Given the description of an element on the screen output the (x, y) to click on. 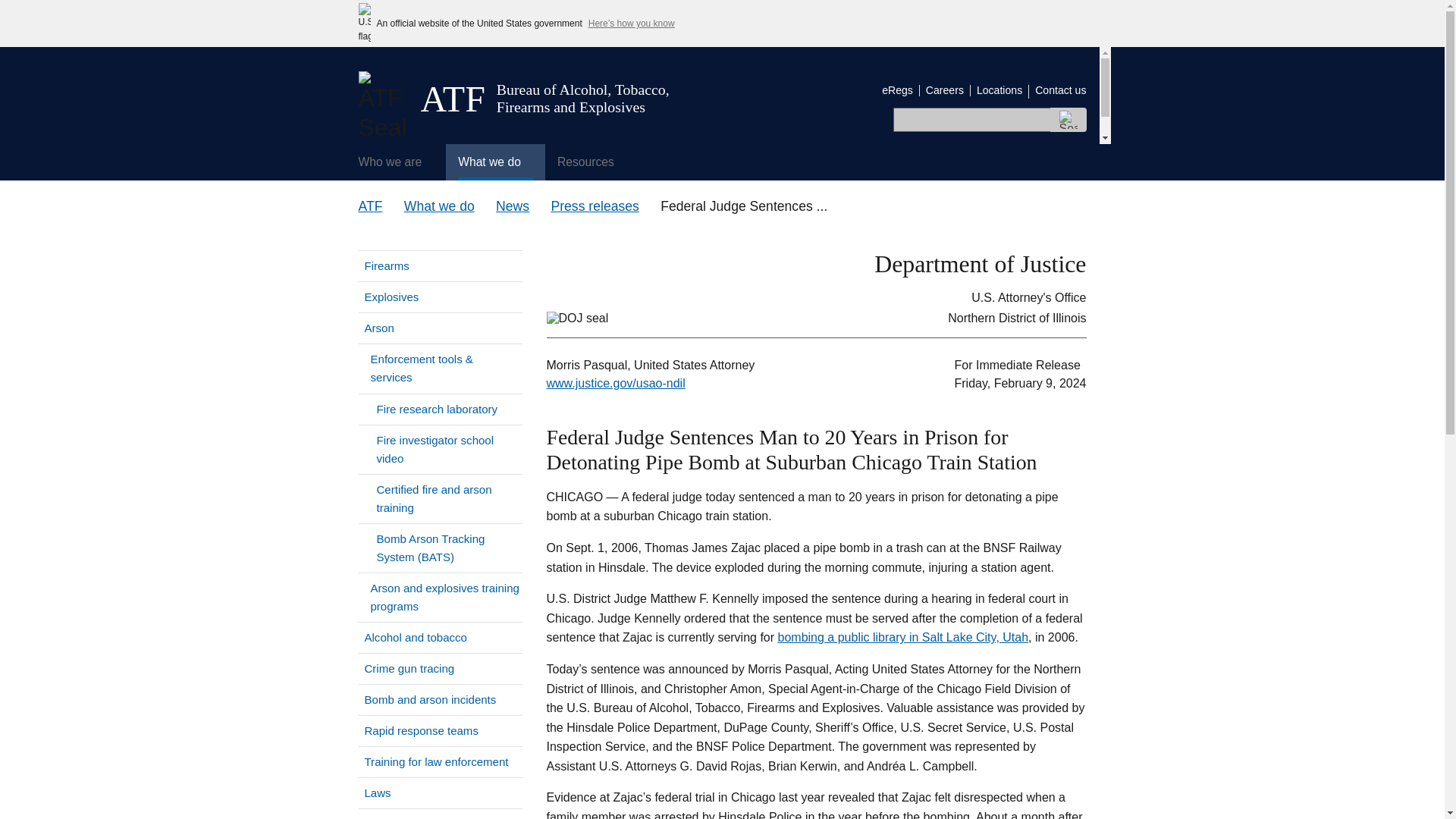
Crime gun tracing (439, 668)
Bomb and arson incidents (439, 699)
Laws (439, 793)
Careers (944, 90)
Fire research laboratory (439, 409)
ATF (369, 206)
Training for law enforcement (439, 761)
Regulations (439, 814)
Press releases (594, 206)
Arson (377, 327)
